Given the description of an element on the screen output the (x, y) to click on. 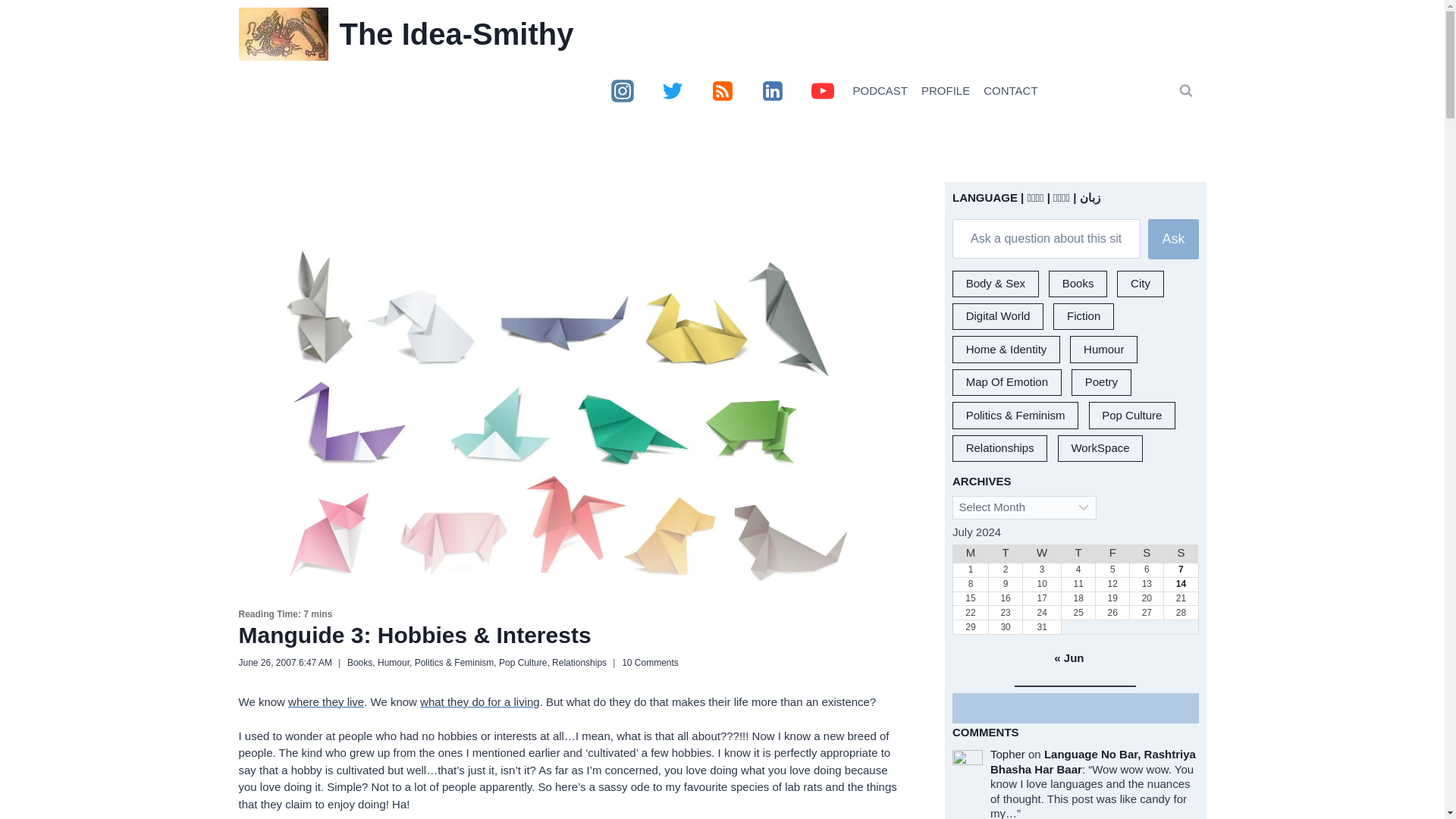
10 Comments (649, 662)
CONTACT (1009, 91)
Monday (970, 553)
PODCAST (880, 91)
PROFILE (945, 91)
Books (359, 662)
where they live (326, 701)
what they do for a living (480, 701)
Relationships (579, 662)
Pop Culture (523, 662)
10 Comments (649, 662)
Humour (393, 662)
The Idea-Smithy (405, 33)
